Given the description of an element on the screen output the (x, y) to click on. 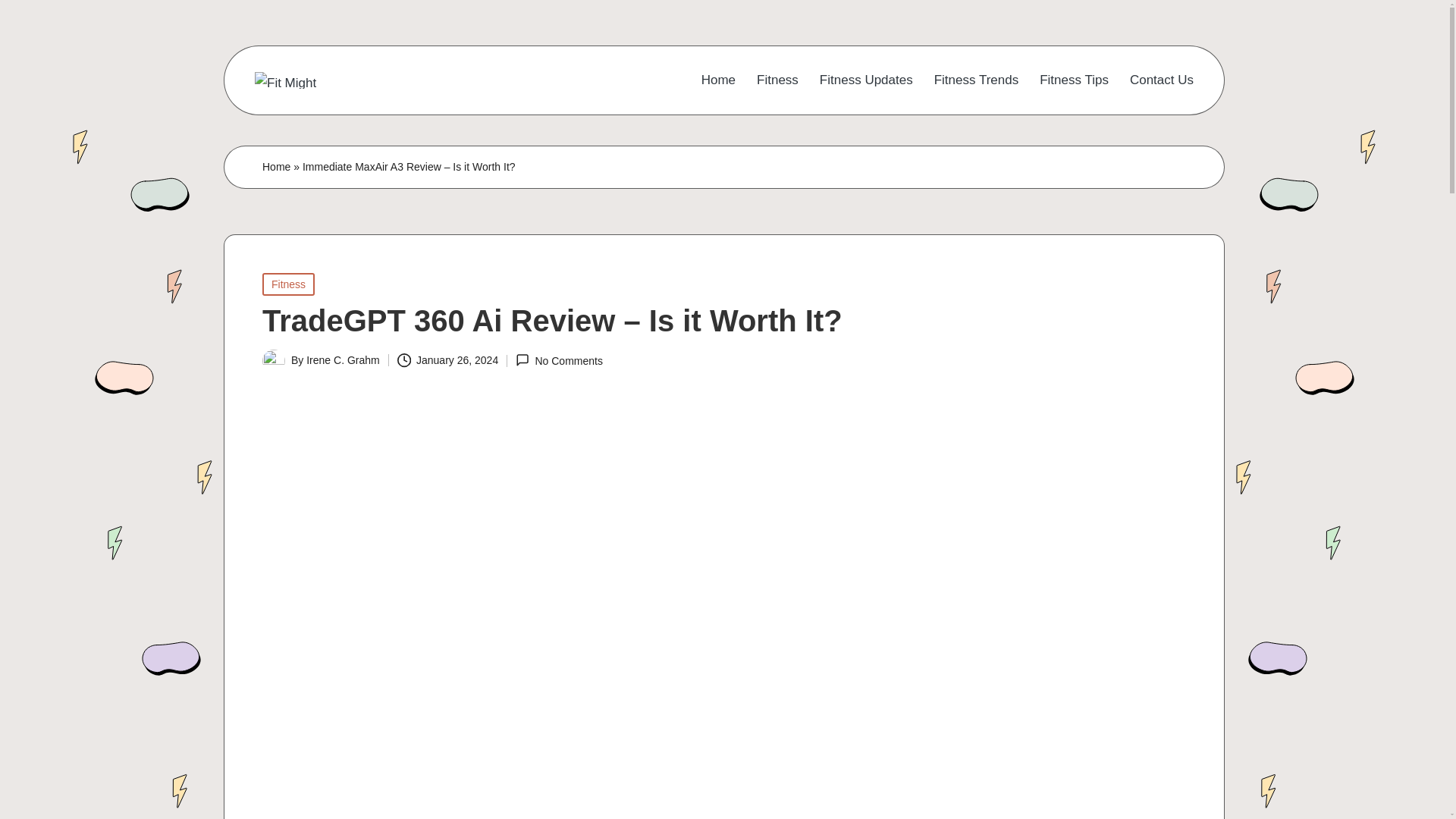
Home (718, 80)
Contact Us (1161, 80)
Fitness (288, 283)
Fitness (777, 80)
Fitness Trends (976, 80)
No Comments (558, 359)
Fitness Updates (865, 80)
View all posts by Irene C. Grahm (341, 359)
Home (275, 167)
Irene C. Grahm (341, 359)
